Given the description of an element on the screen output the (x, y) to click on. 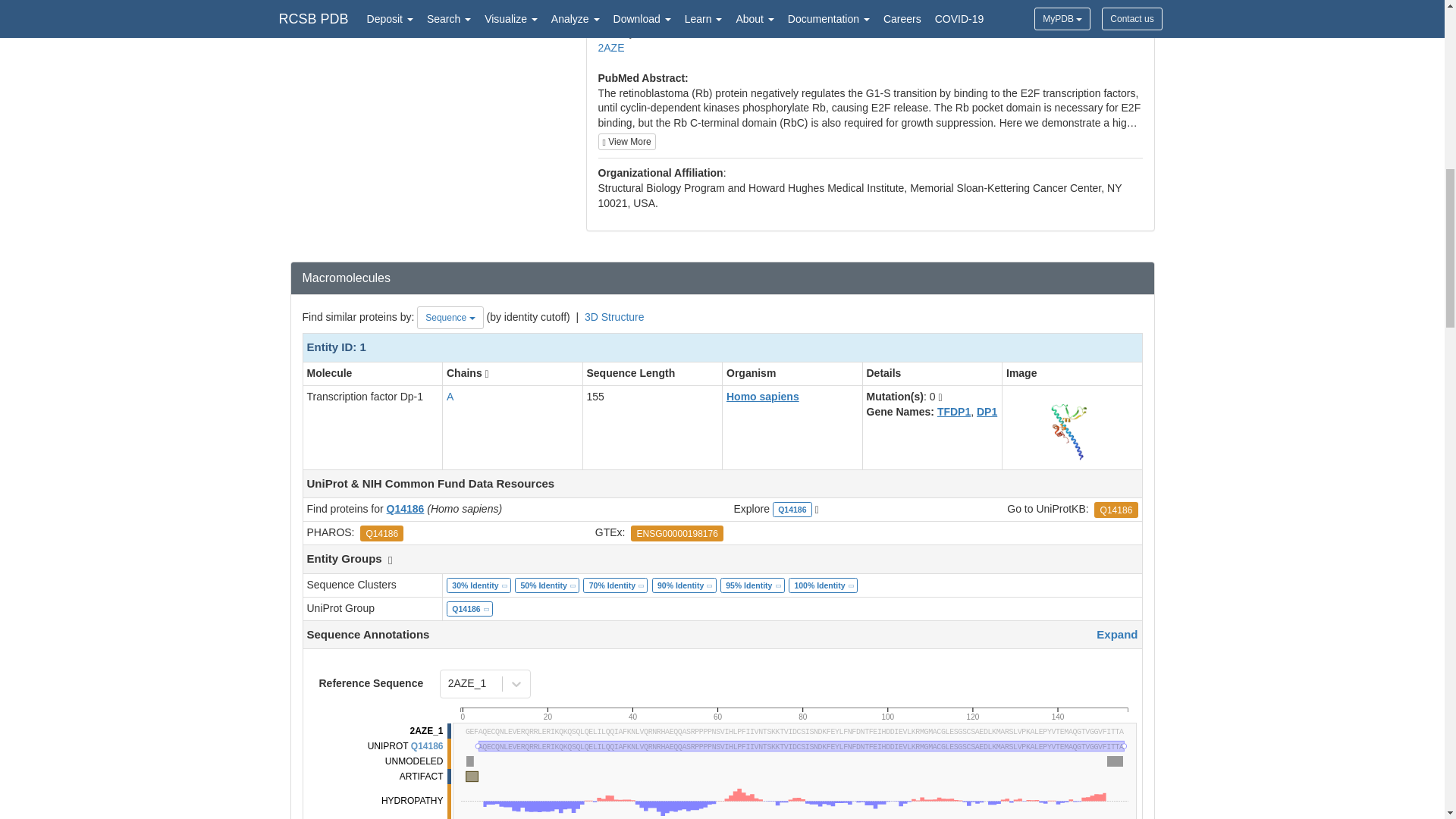
Diseases, drugs and related data (792, 711)
